Given the description of an element on the screen output the (x, y) to click on. 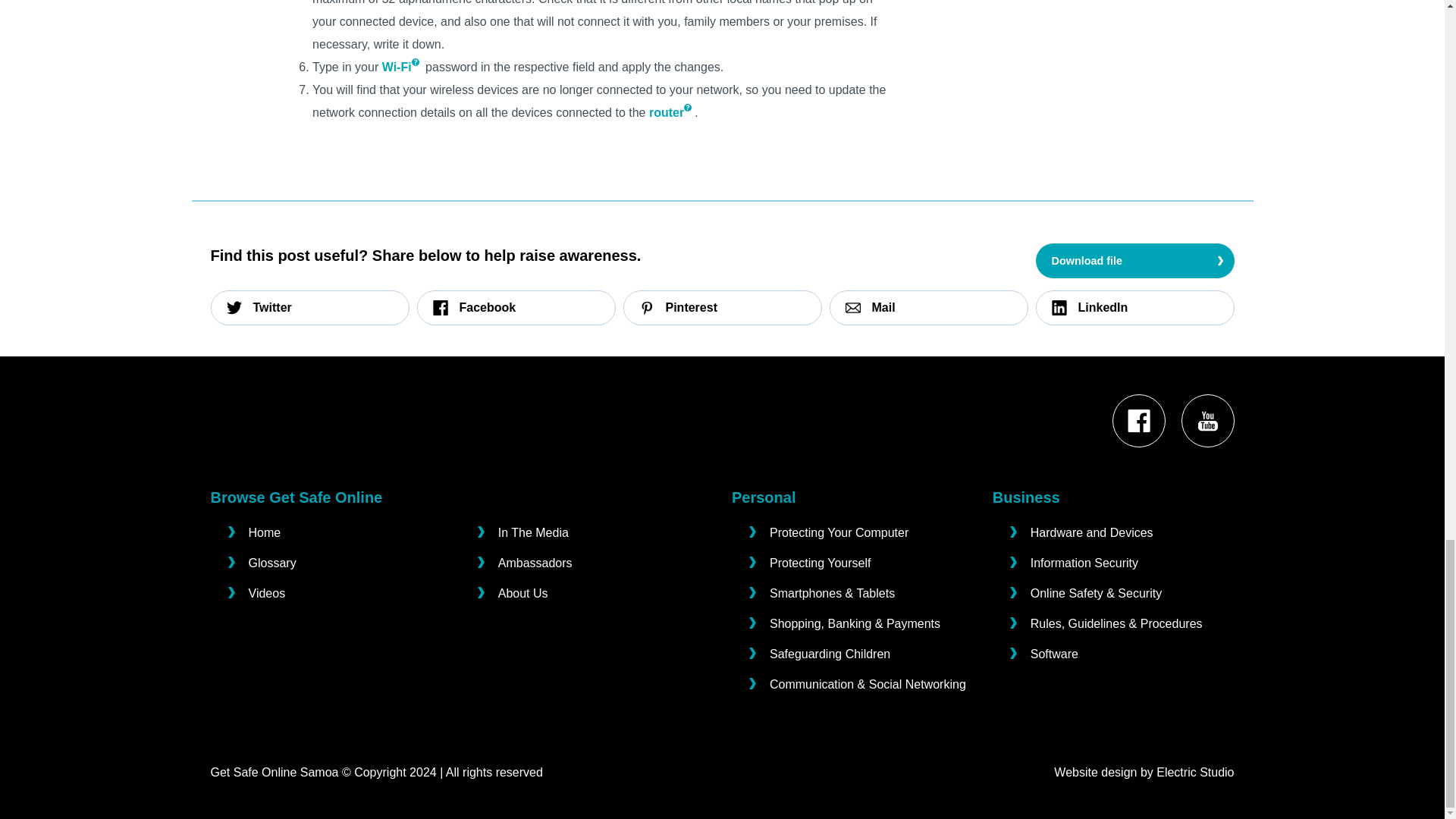
Get Safe Online Samoa youtube (1208, 420)
Digital Agency Oxford (1194, 771)
Get Safe Online Samoa facebook (1138, 420)
